Given the description of an element on the screen output the (x, y) to click on. 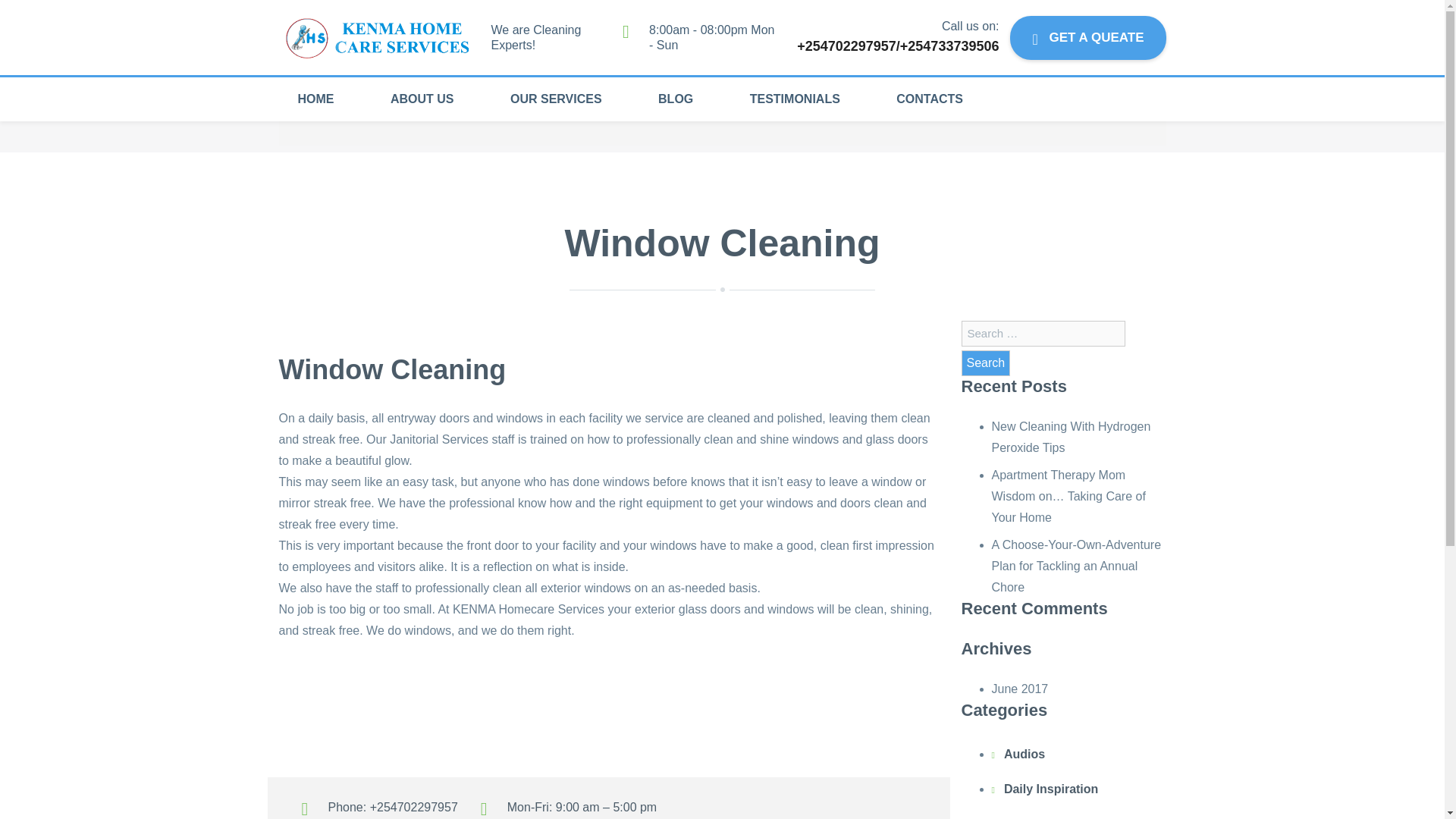
OUR SERVICES (555, 98)
Daily Inspiration (1050, 788)
Search (985, 362)
Search (985, 362)
GET A QUEATE (1088, 36)
Audios (1024, 754)
BLOG (675, 98)
New Cleaning With Hydrogen Peroxide Tips (1071, 437)
TESTIMONIALS (794, 98)
CONTACTS (929, 98)
Search (985, 362)
Uncategorized (1045, 814)
ABOUT US (421, 98)
June 2017 (1019, 688)
